Given the description of an element on the screen output the (x, y) to click on. 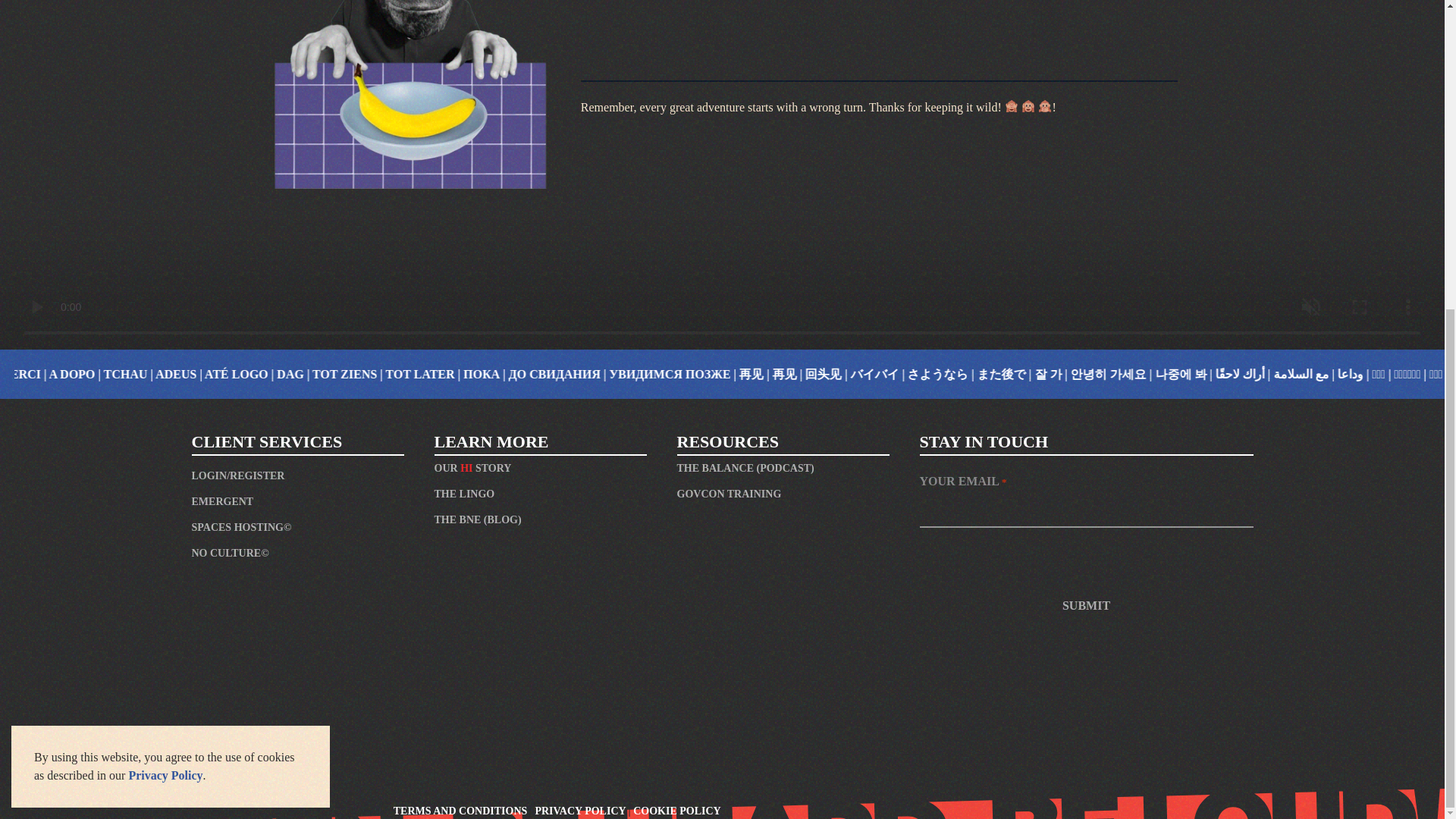
Submit (1086, 605)
HOME (748, 16)
SERVICES (859, 16)
EMERGENT (296, 501)
CONTACT US (989, 16)
